Given the description of an element on the screen output the (x, y) to click on. 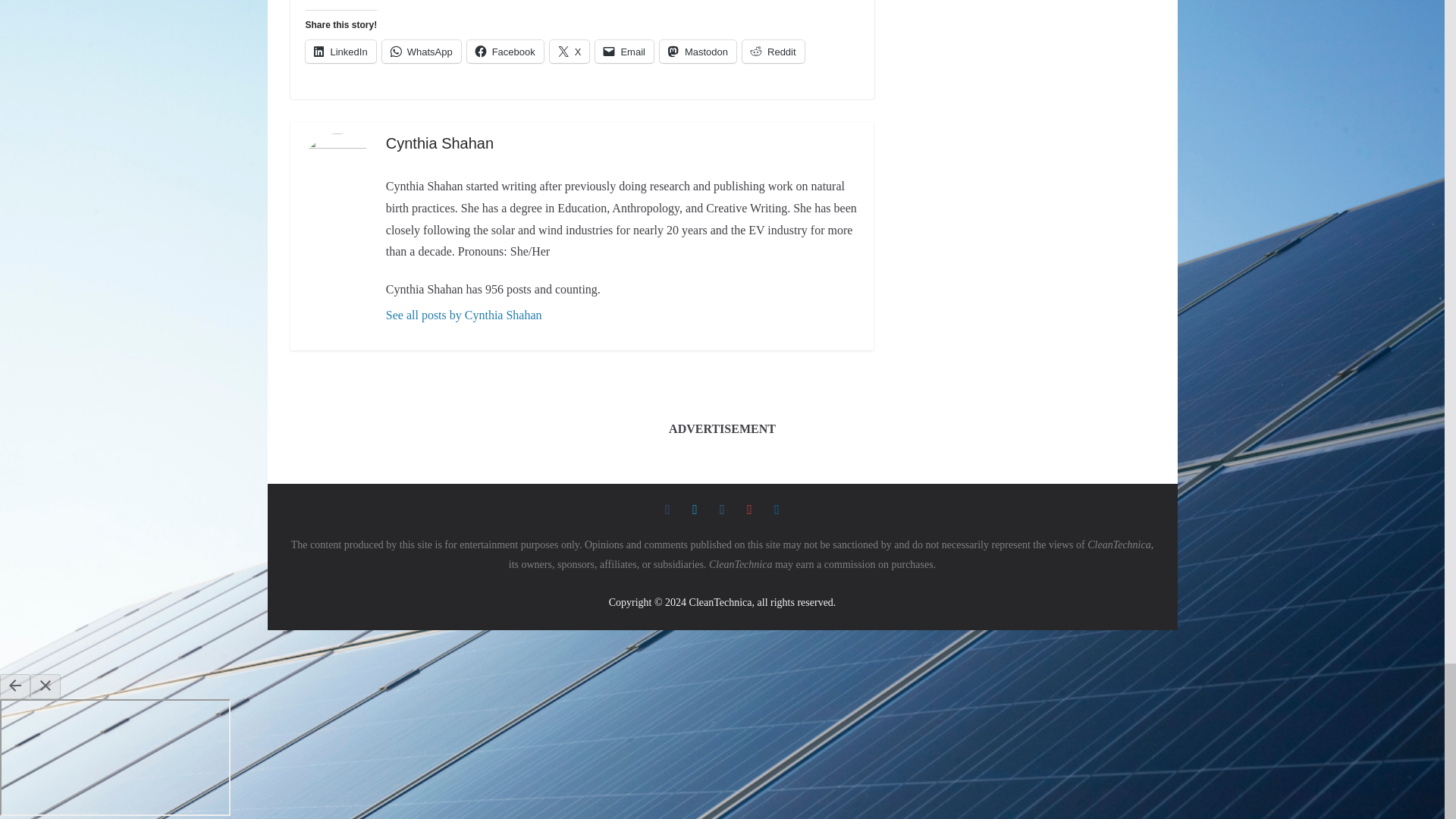
Click to share on Facebook (505, 51)
Click to share on WhatsApp (421, 51)
Click to share on LinkedIn (339, 51)
